Given the description of an element on the screen output the (x, y) to click on. 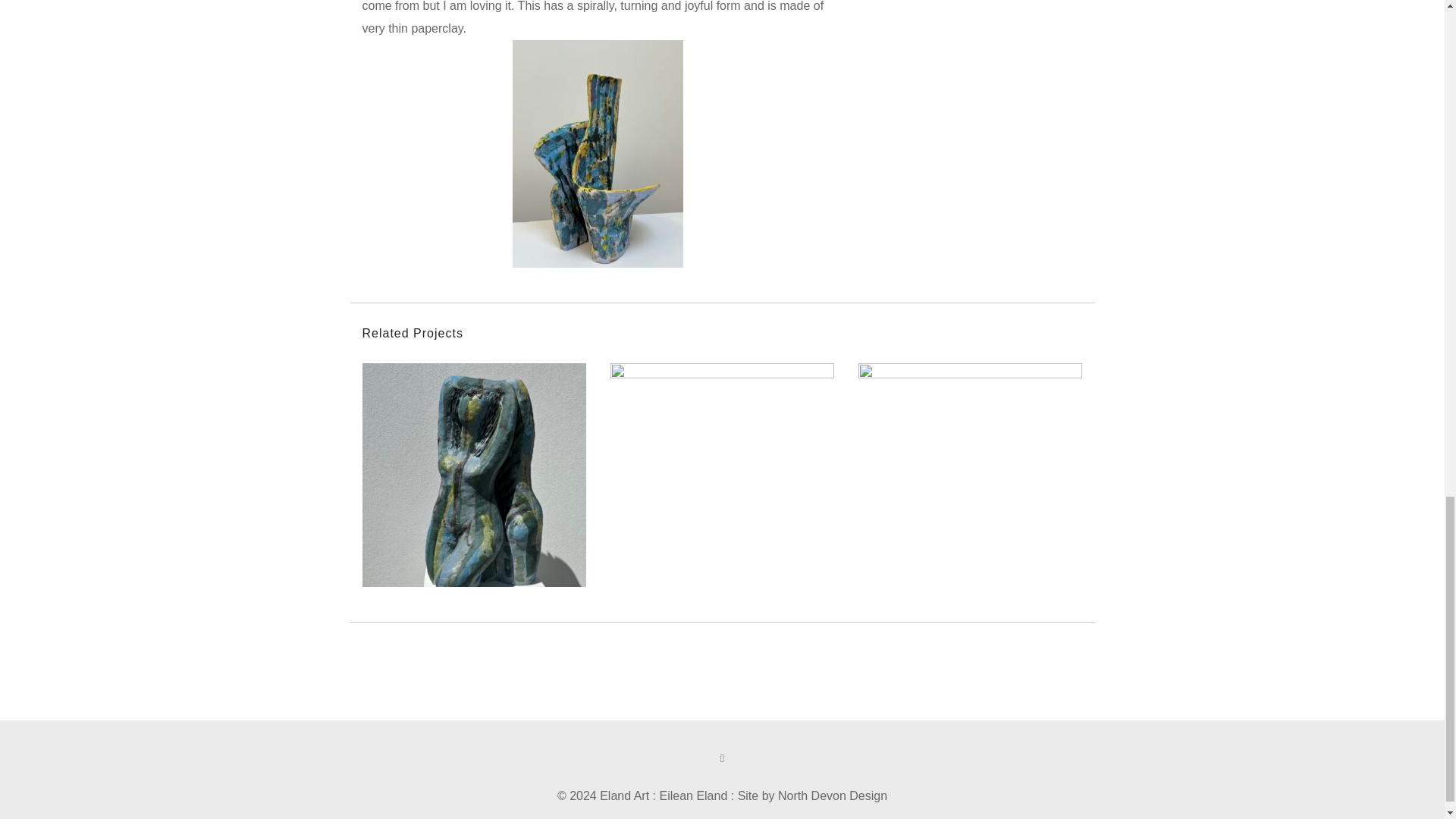
North Devon Design (831, 795)
